Given the description of an element on the screen output the (x, y) to click on. 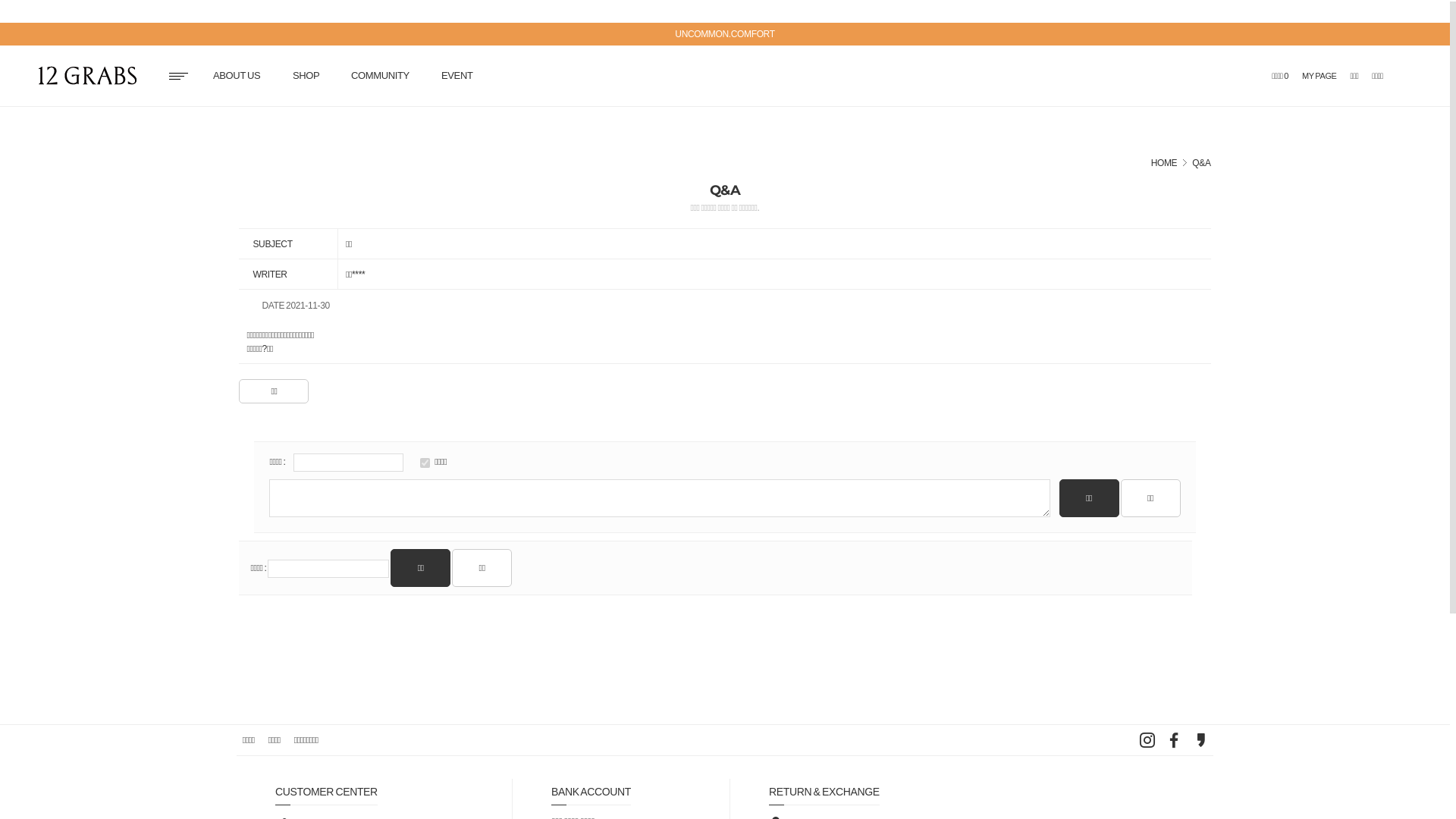
  Element type: text (90, 76)
HOME Element type: text (1164, 162)
UNCOMMON.COMFORT Element type: text (724, 33)
SHOP Element type: text (305, 75)
EVENT Element type: text (457, 75)
ABOUT US Element type: text (236, 75)
MY PAGE Element type: text (1319, 75)
COMMUNITY Element type: text (379, 75)
